Given the description of an element on the screen output the (x, y) to click on. 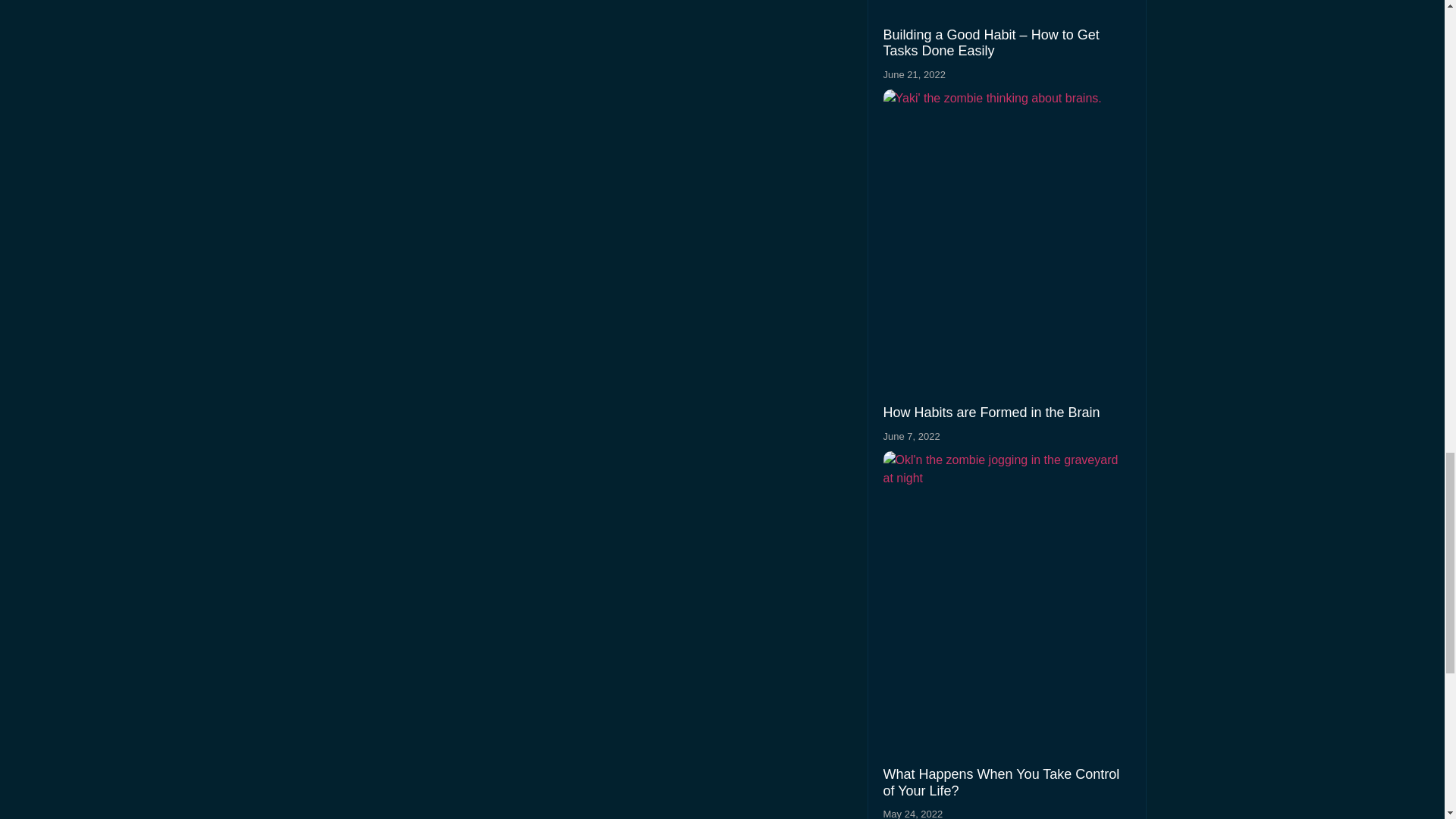
How Habits are Formed in the Brain (990, 412)
What Happens When You Take Control of Your Life? (1000, 782)
